Given the description of an element on the screen output the (x, y) to click on. 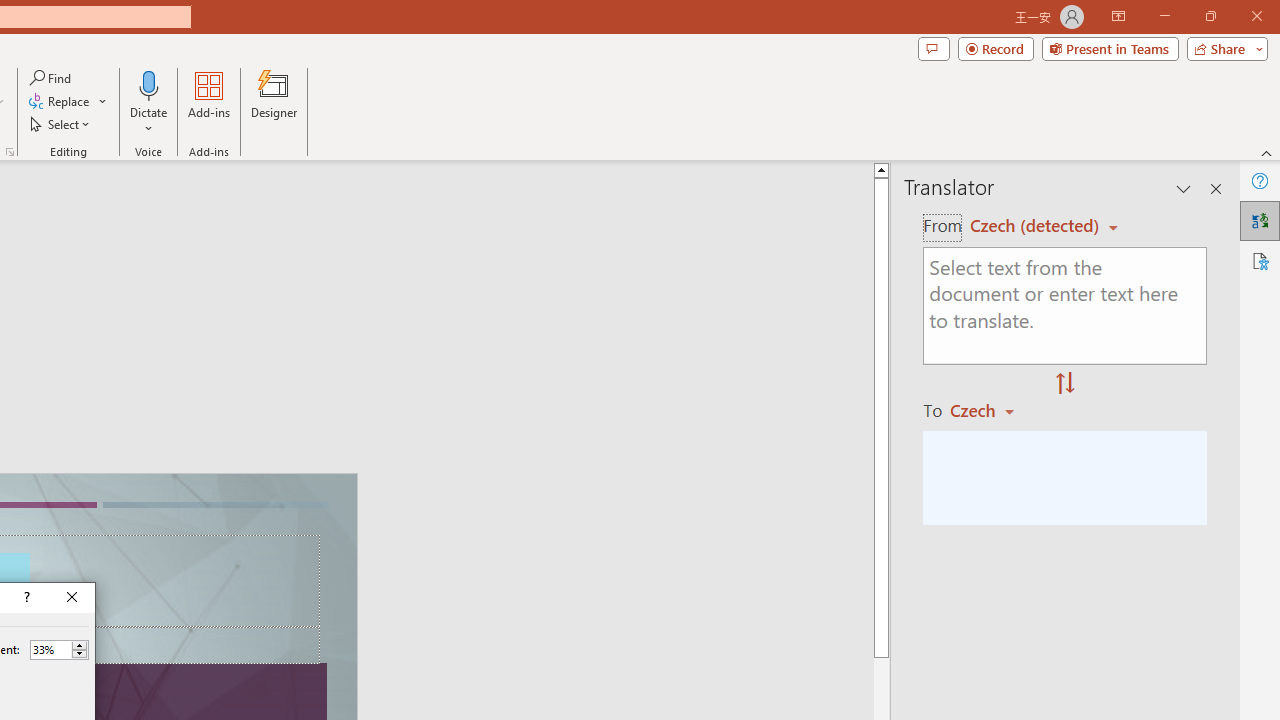
Percent (50, 649)
Swap "from" and "to" languages. (1065, 383)
Percent (59, 650)
Czech (991, 409)
